Given the description of an element on the screen output the (x, y) to click on. 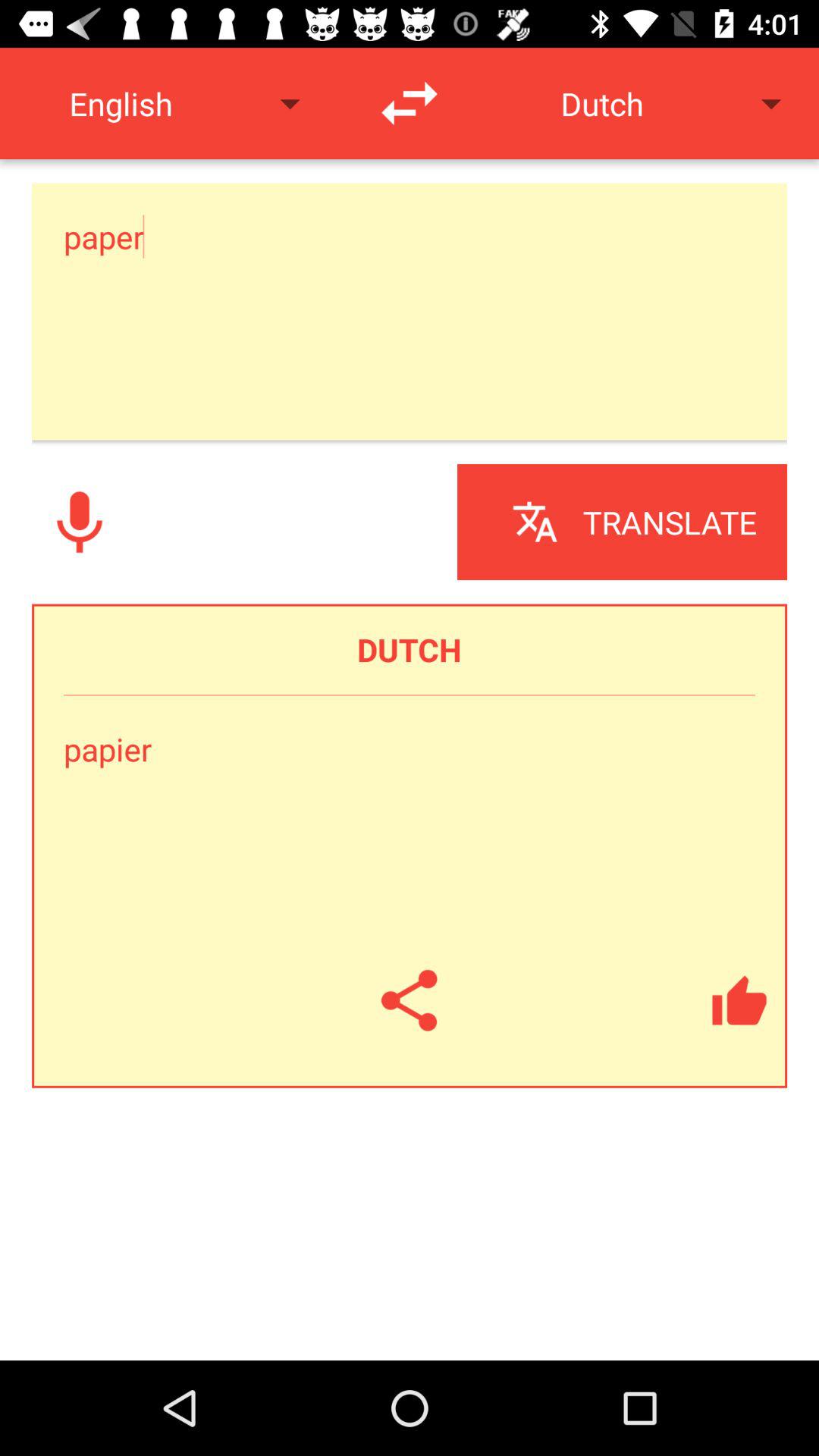
like button (739, 1000)
